Given the description of an element on the screen output the (x, y) to click on. 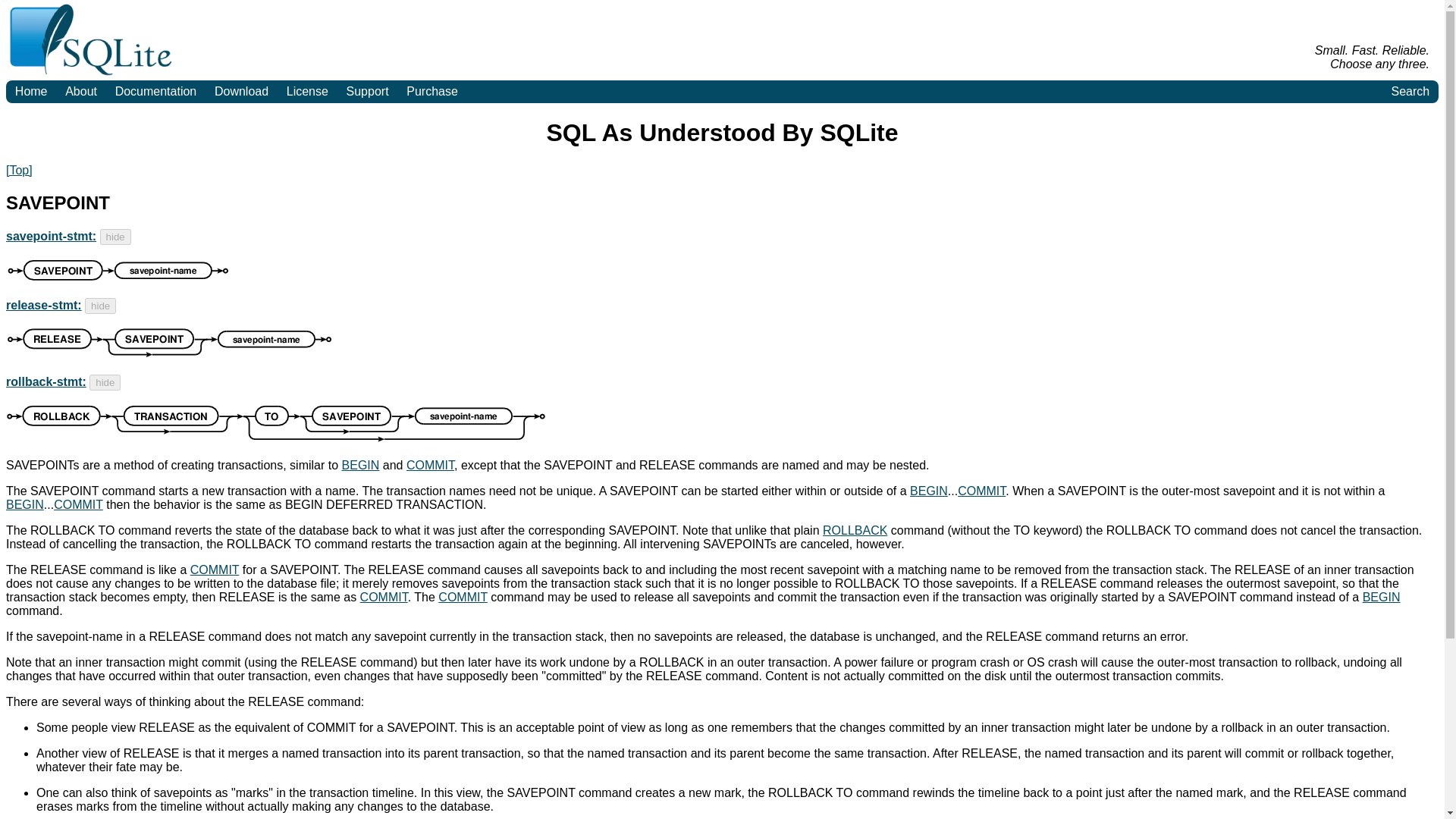
COMMIT (215, 568)
License (307, 91)
hide (115, 236)
COMMIT (383, 595)
Documentation (155, 91)
hide (104, 382)
BEGIN (24, 503)
About (80, 91)
BEGIN (1381, 595)
Purchase (431, 91)
